Given the description of an element on the screen output the (x, y) to click on. 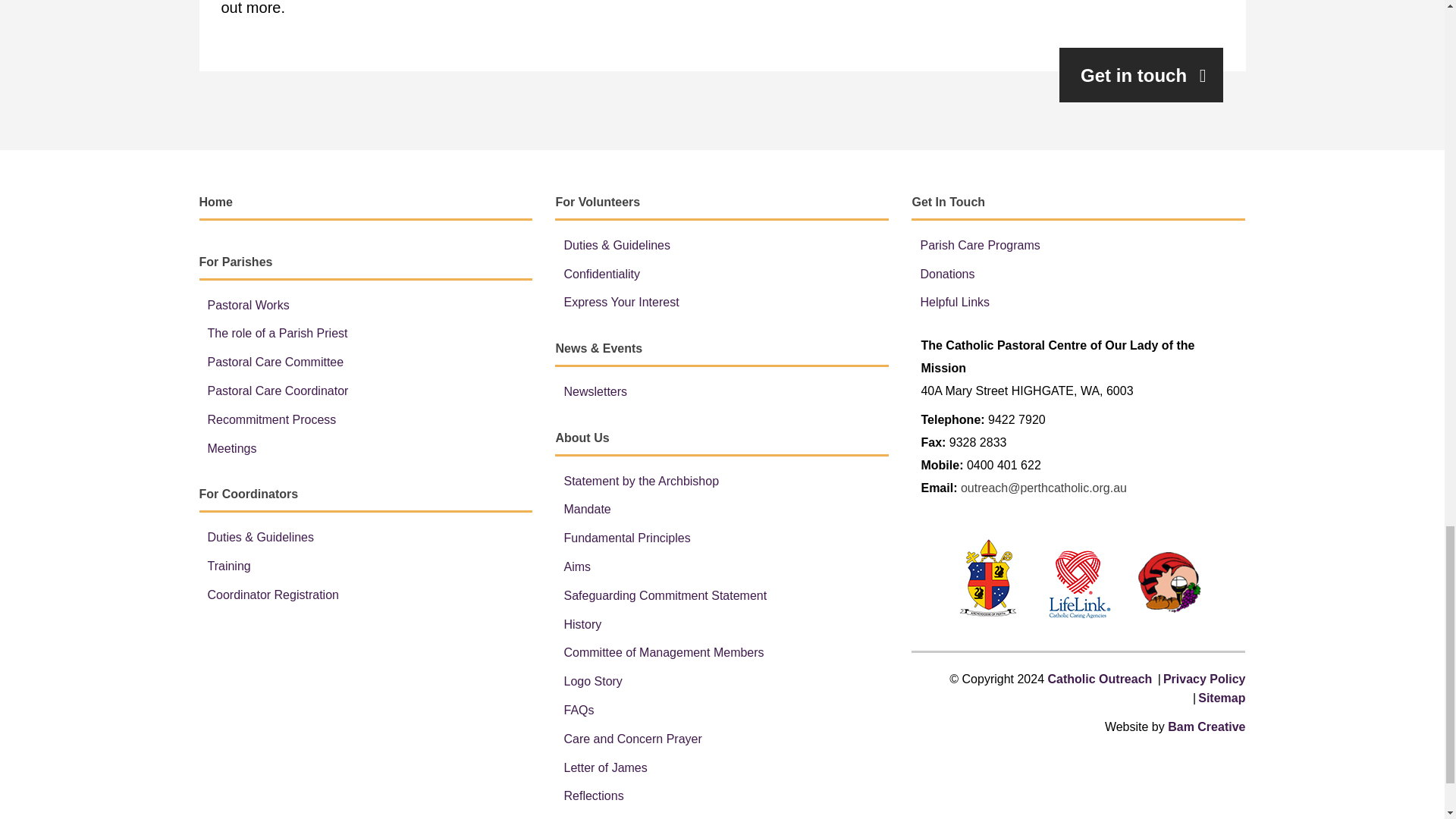
Go to the Catholic Outreach Homepage (1100, 678)
View the Sitemap (1221, 697)
View our Privacy Policy (1204, 678)
